Given the description of an element on the screen output the (x, y) to click on. 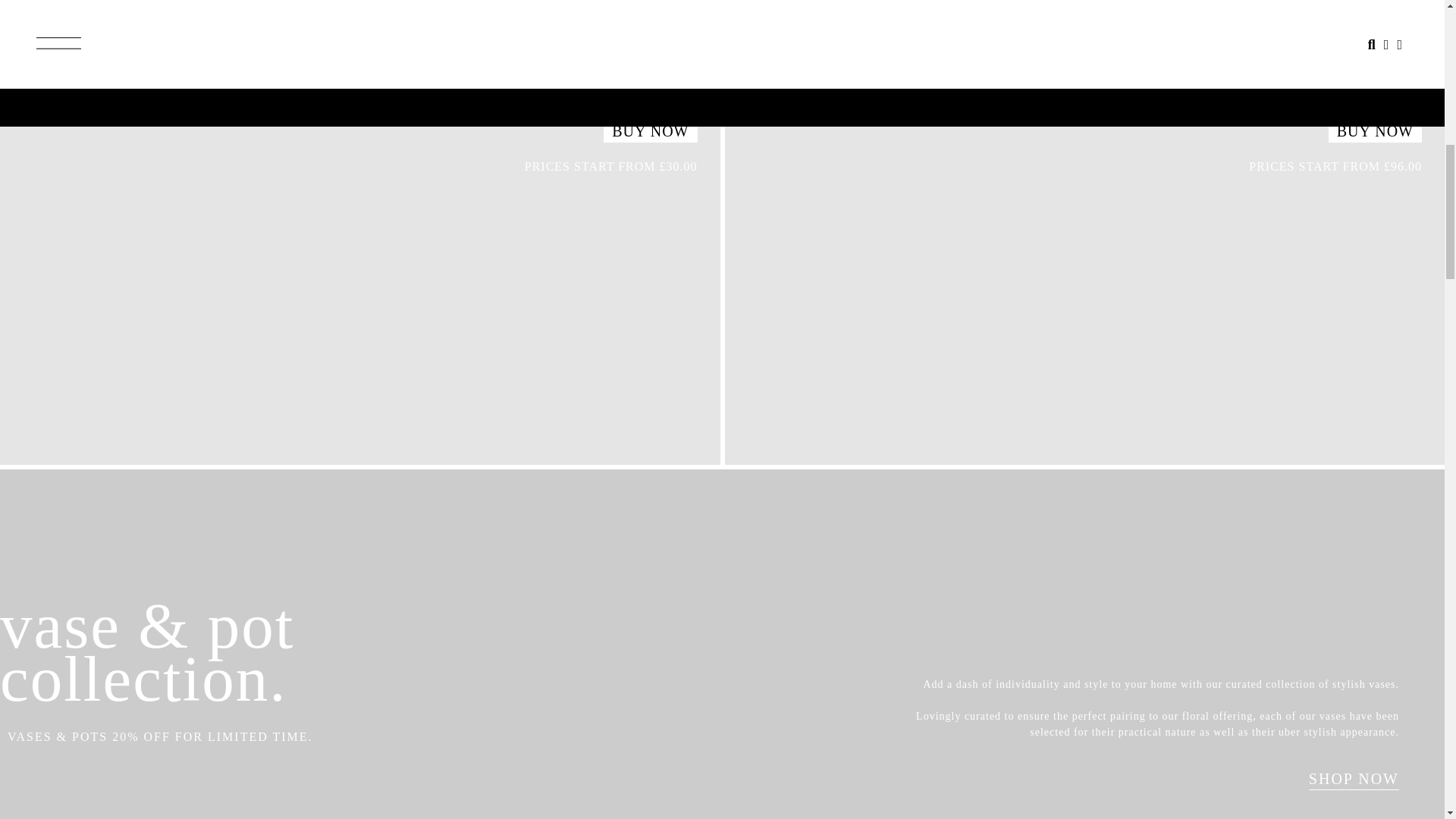
ORDER NOW (1077, 601)
